Given the description of an element on the screen output the (x, y) to click on. 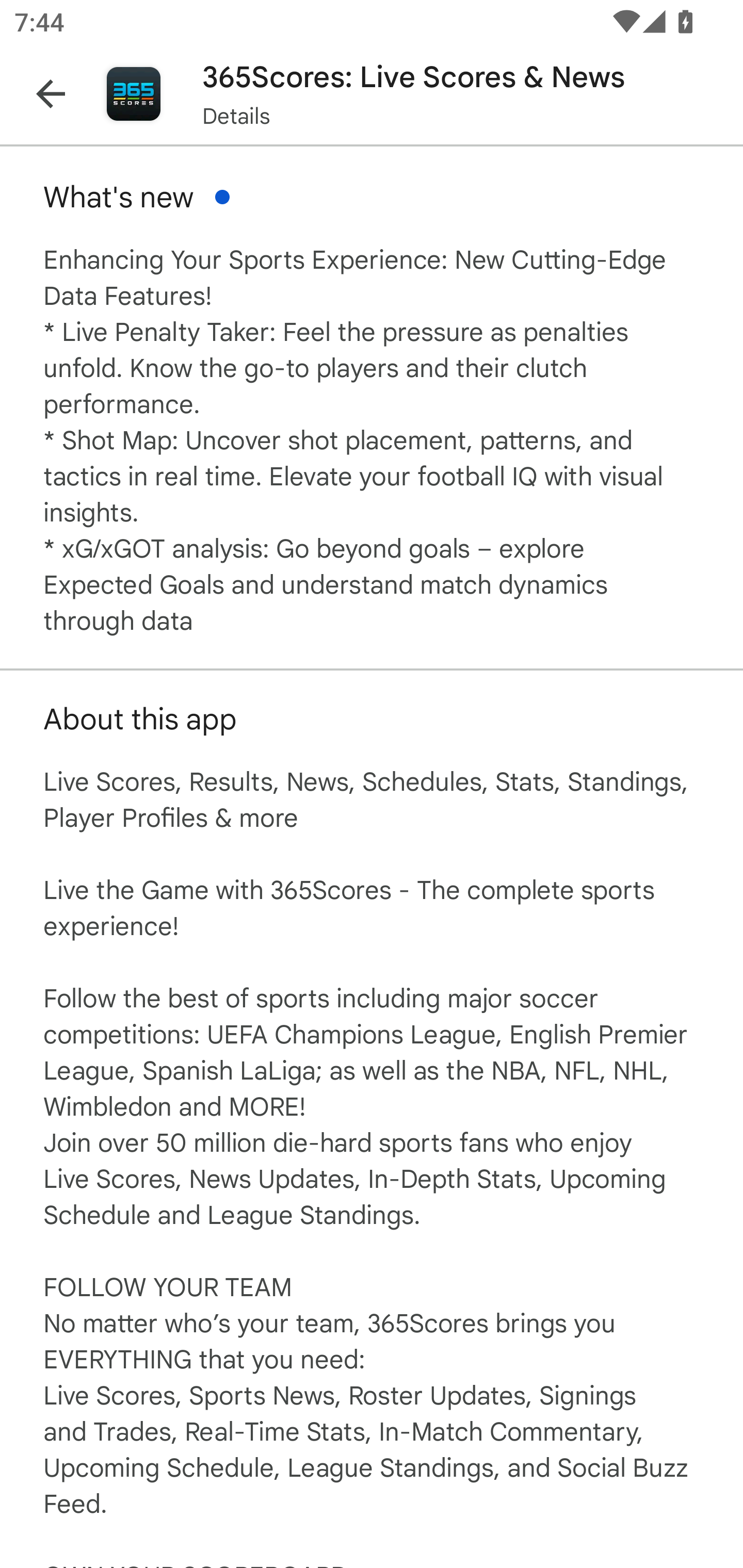
Navigate up (50, 93)
